Given the description of an element on the screen output the (x, y) to click on. 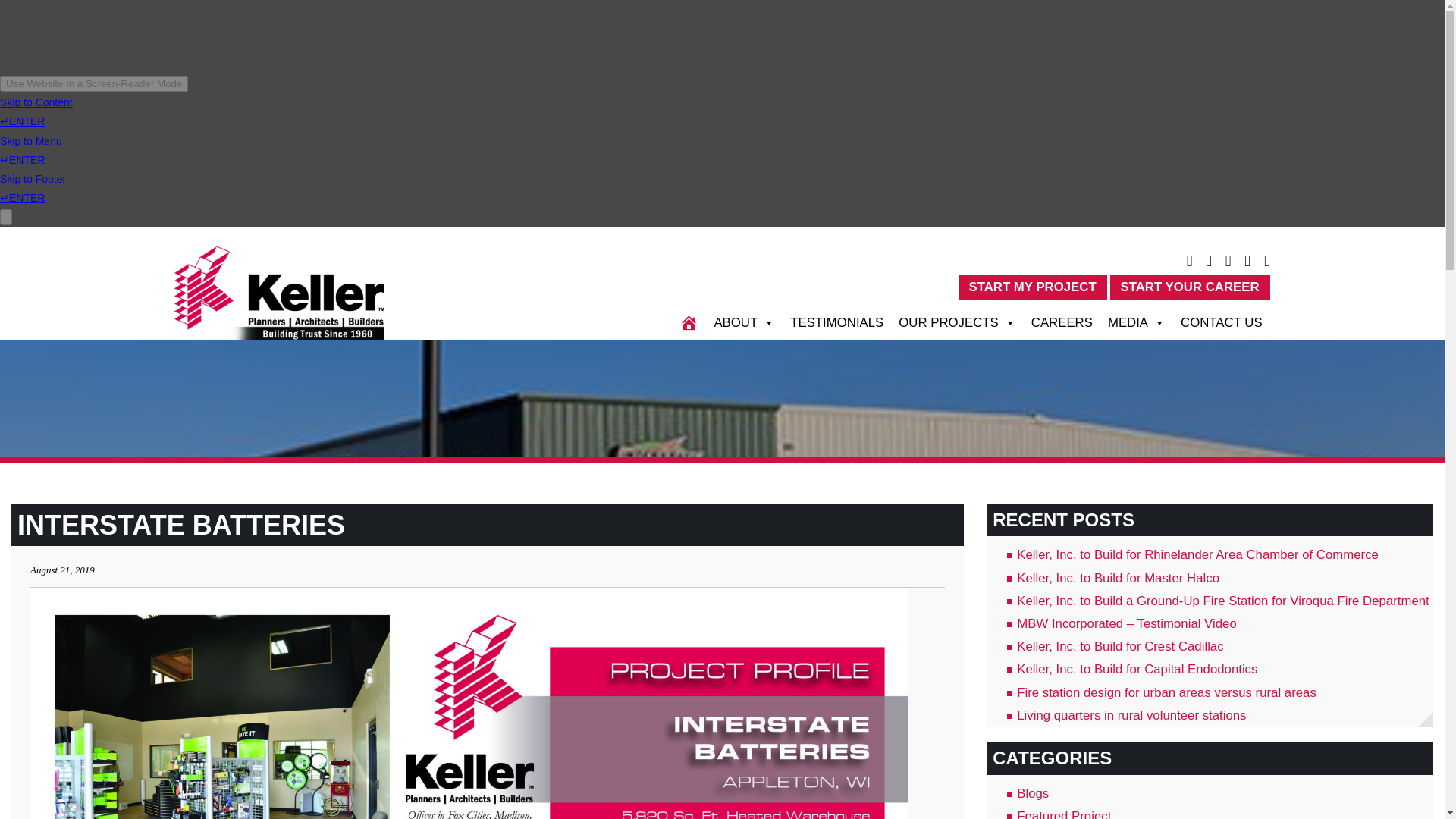
Interstate Batteries (181, 524)
MEDIA (1136, 322)
CAREERS (1061, 322)
CONTACT US (1221, 322)
START YOUR CAREER (1189, 287)
ABOUT (744, 322)
TESTIMONIALS (837, 322)
START MY PROJECT (1032, 287)
OUR PROJECTS (957, 322)
